Given the description of an element on the screen output the (x, y) to click on. 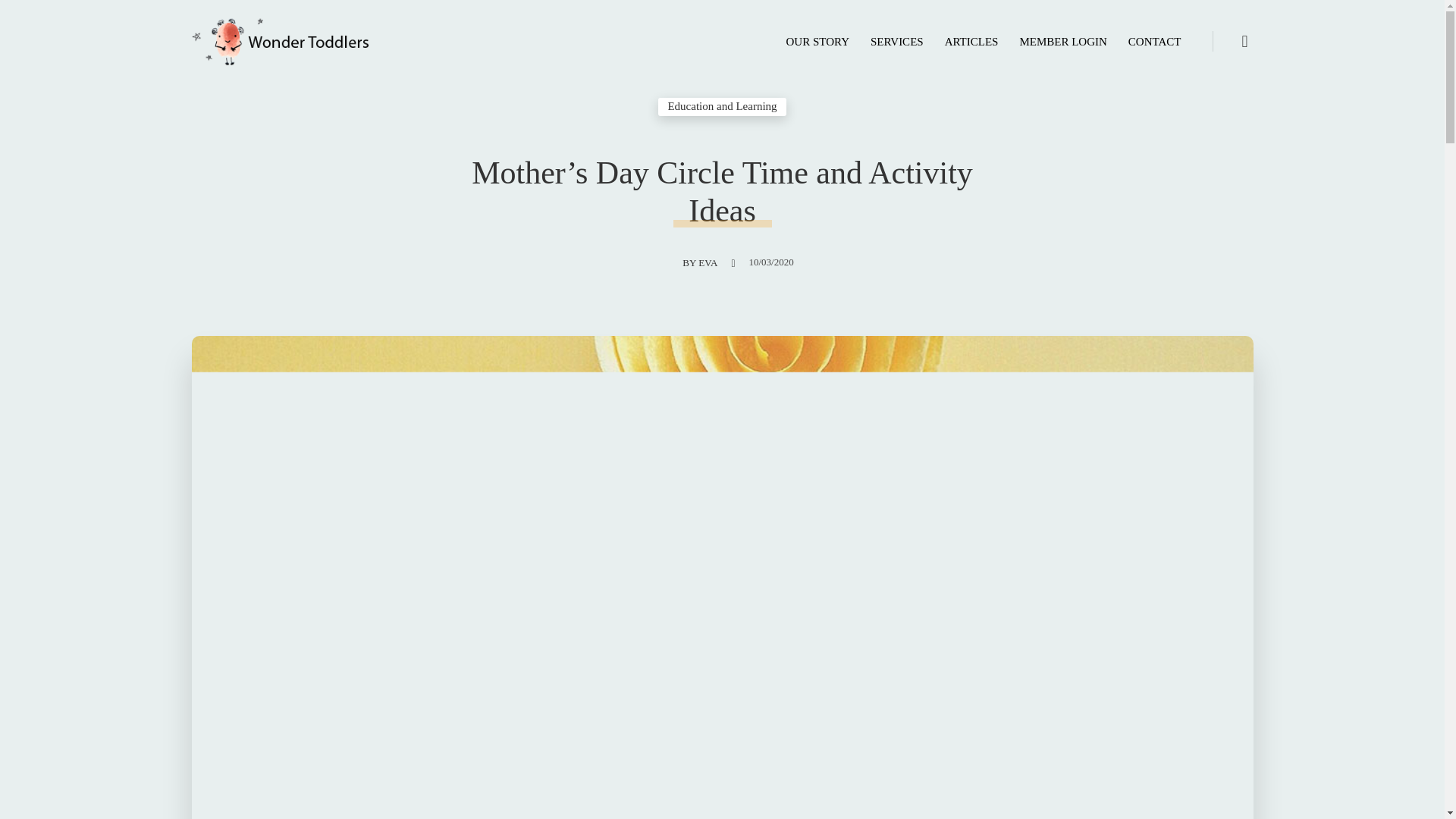
ARTICLES (971, 41)
CONTACT (1155, 41)
OUR STORY (817, 41)
SERVICES (897, 41)
MEMBER LOGIN (1062, 41)
